Given the description of an element on the screen output the (x, y) to click on. 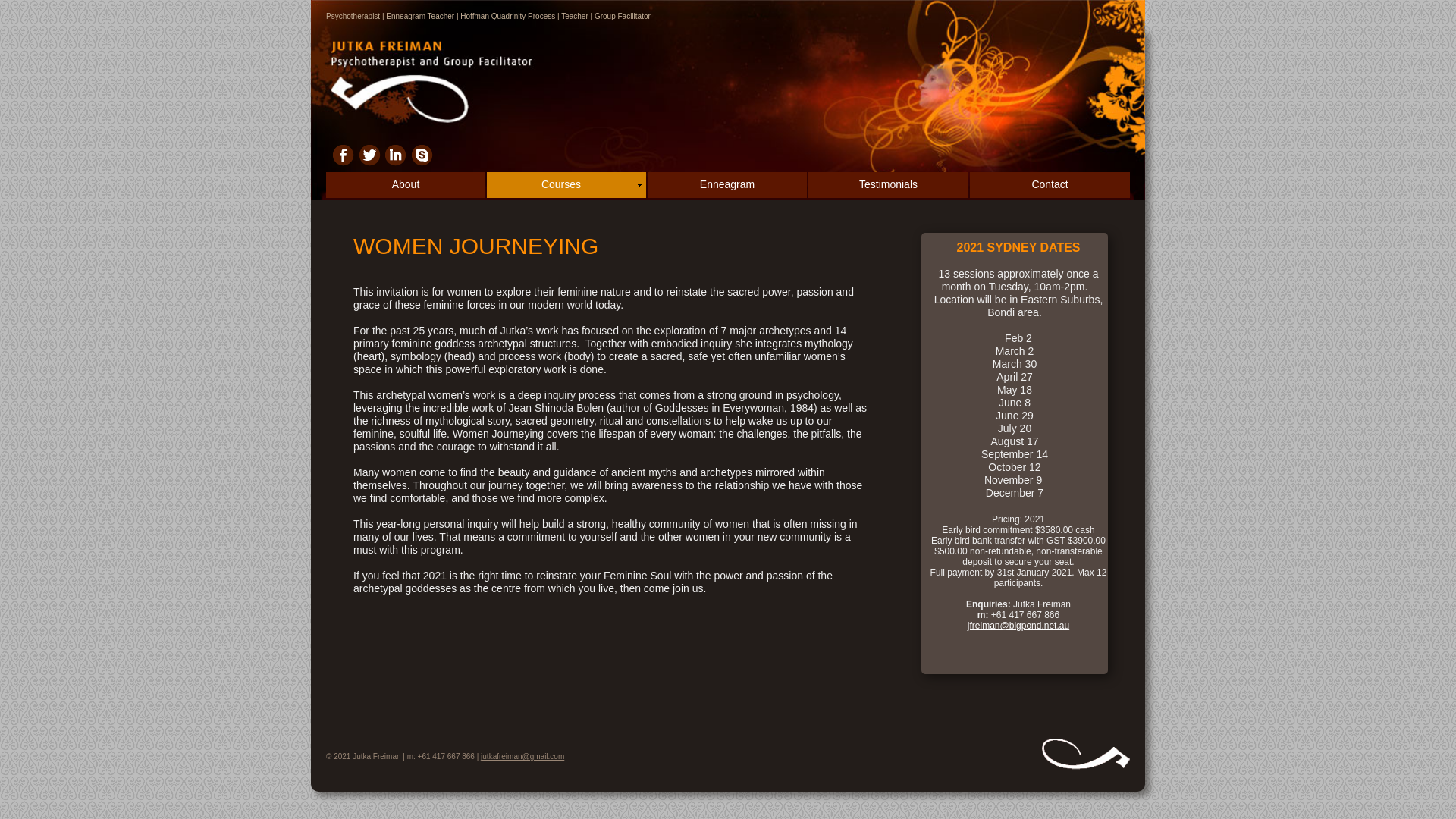
Enneagram Element type: text (726, 184)
Testimonials Element type: text (888, 184)
About Element type: text (405, 184)
Contact Element type: text (1049, 184)
Courses Element type: text (566, 184)
jfreiman@bigpond.net.au Element type: text (1018, 625)
jutkafreiman@gmail.com Element type: text (522, 756)
